Given the description of an element on the screen output the (x, y) to click on. 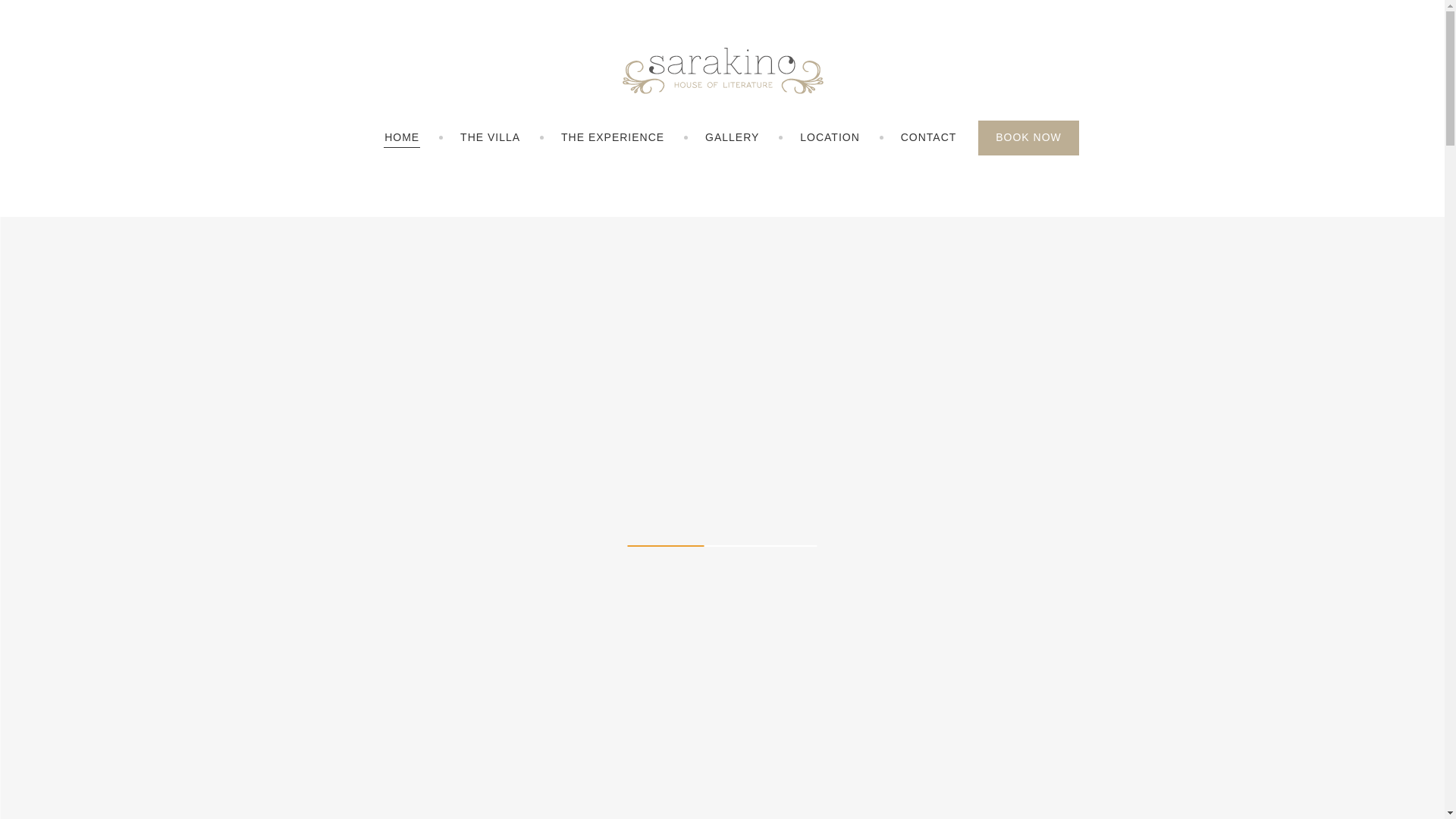
THE VILLA (490, 137)
 Home Menu Item (402, 138)
BOOK NOW (1028, 137)
GALLERY (732, 137)
CONTACT (928, 137)
LOCATION (829, 137)
THE EXPERIENCE (612, 137)
HOME (402, 138)
